Given the description of an element on the screen output the (x, y) to click on. 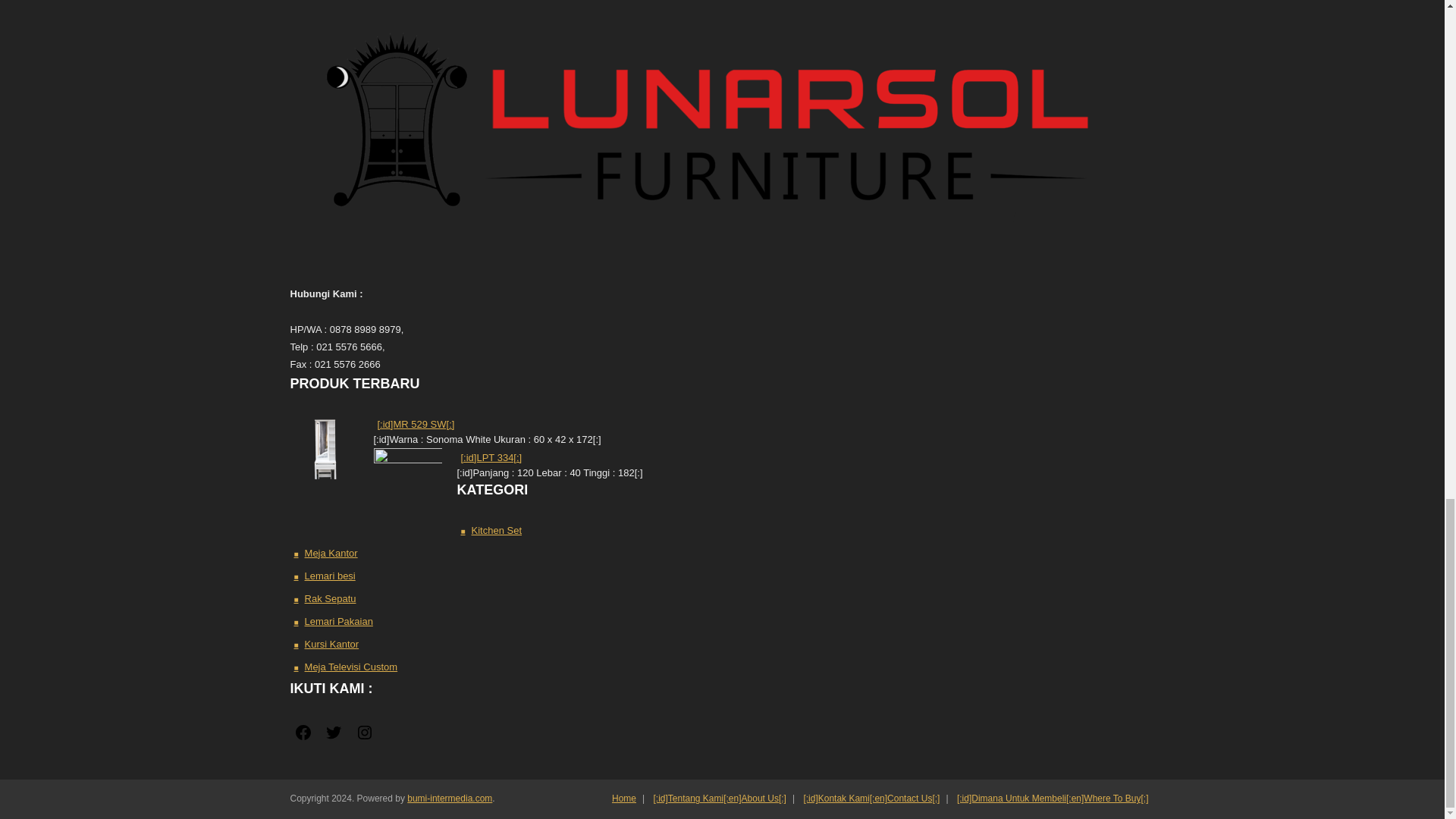
Lemari Pakaian (332, 621)
Kursi Kantor (325, 644)
Kitchen Set (491, 530)
Lemari besi (323, 576)
Meja Kantor (325, 553)
Rak Sepatu (324, 598)
